Given the description of an element on the screen output the (x, y) to click on. 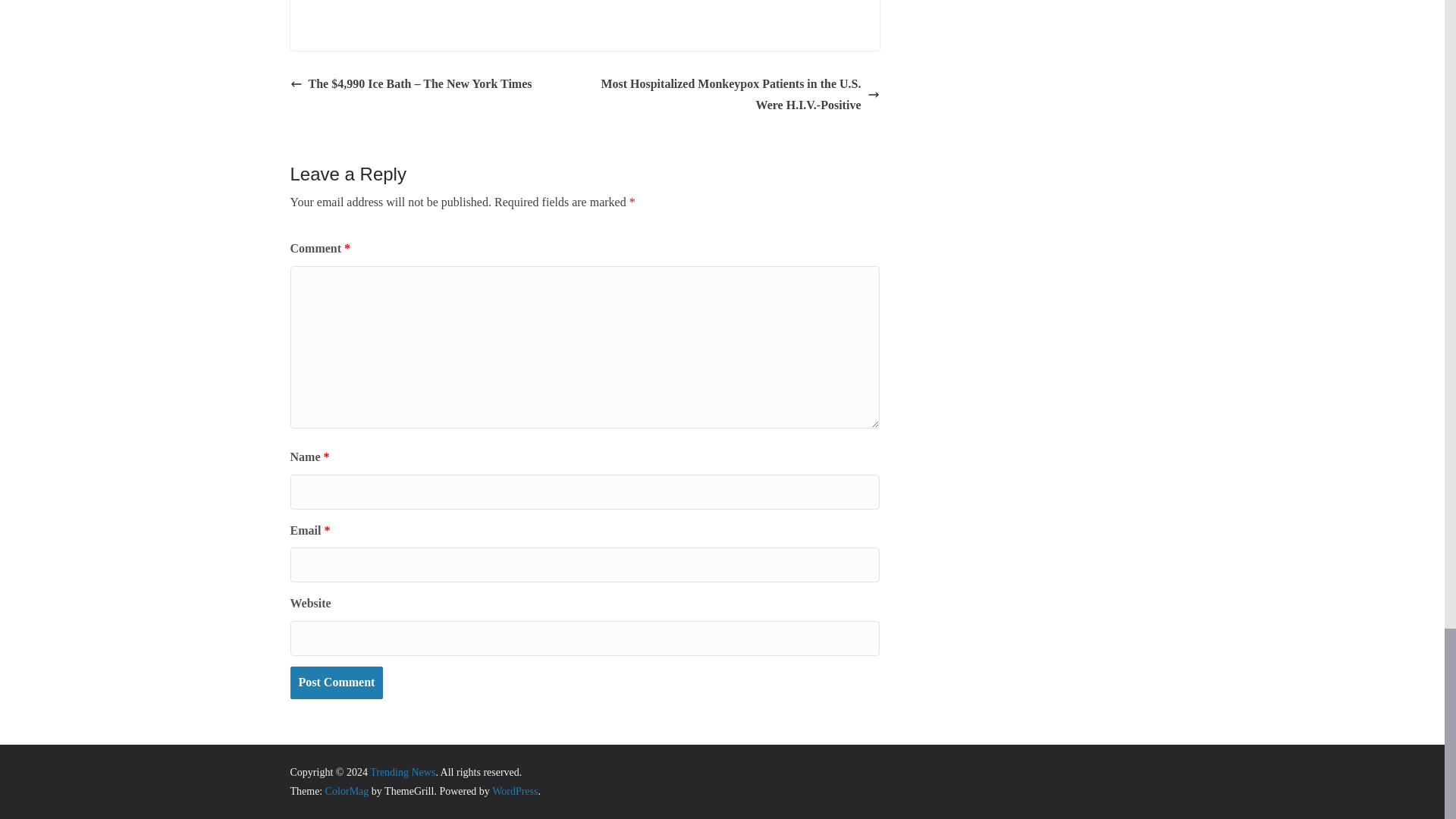
Trending News (402, 772)
ColorMag (346, 790)
WordPress (514, 790)
Post Comment (335, 682)
